Given the description of an element on the screen output the (x, y) to click on. 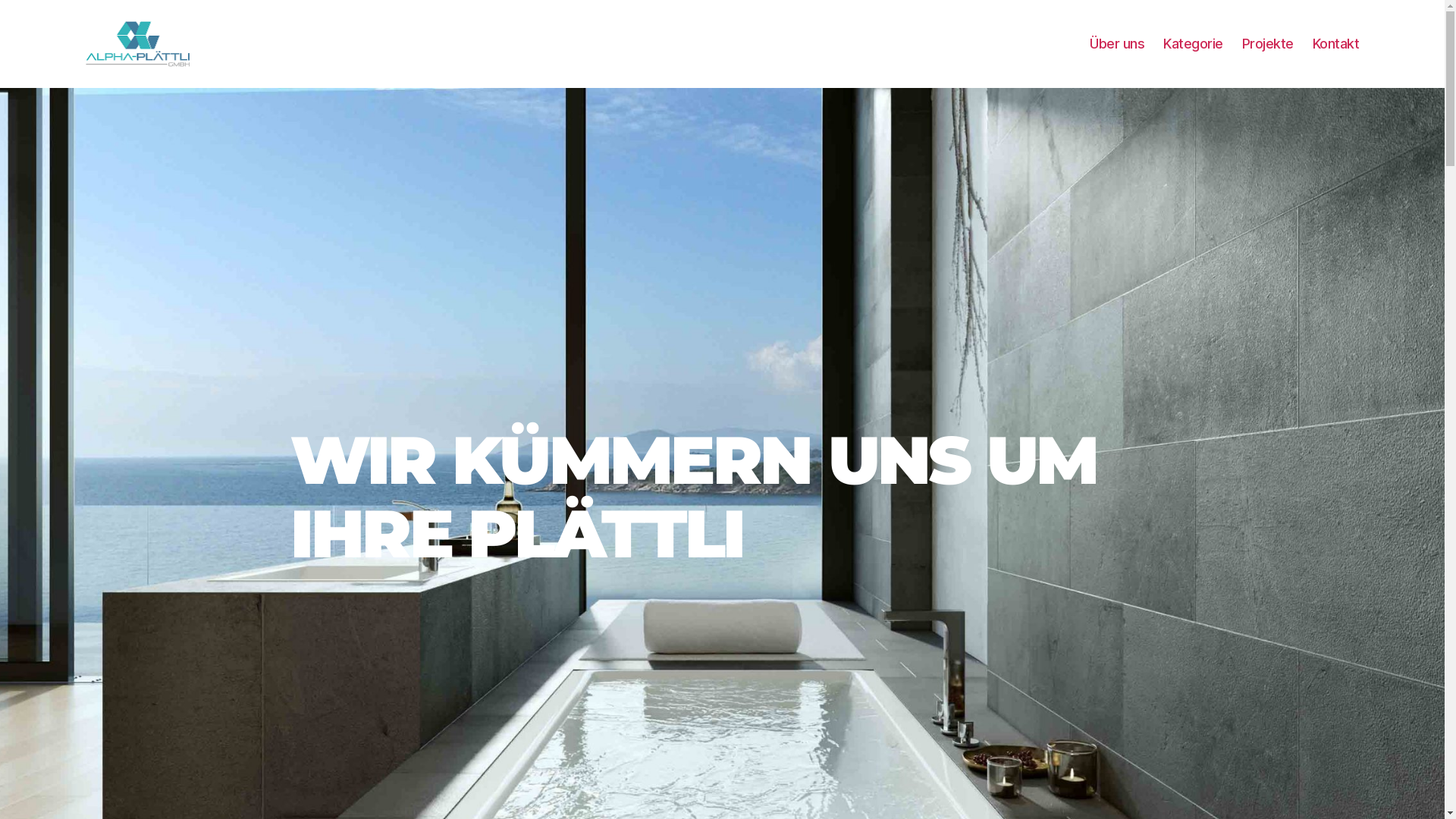
Kategorie Element type: text (1193, 43)
Kontakt Element type: text (1335, 43)
Projekte Element type: text (1267, 43)
